Given the description of an element on the screen output the (x, y) to click on. 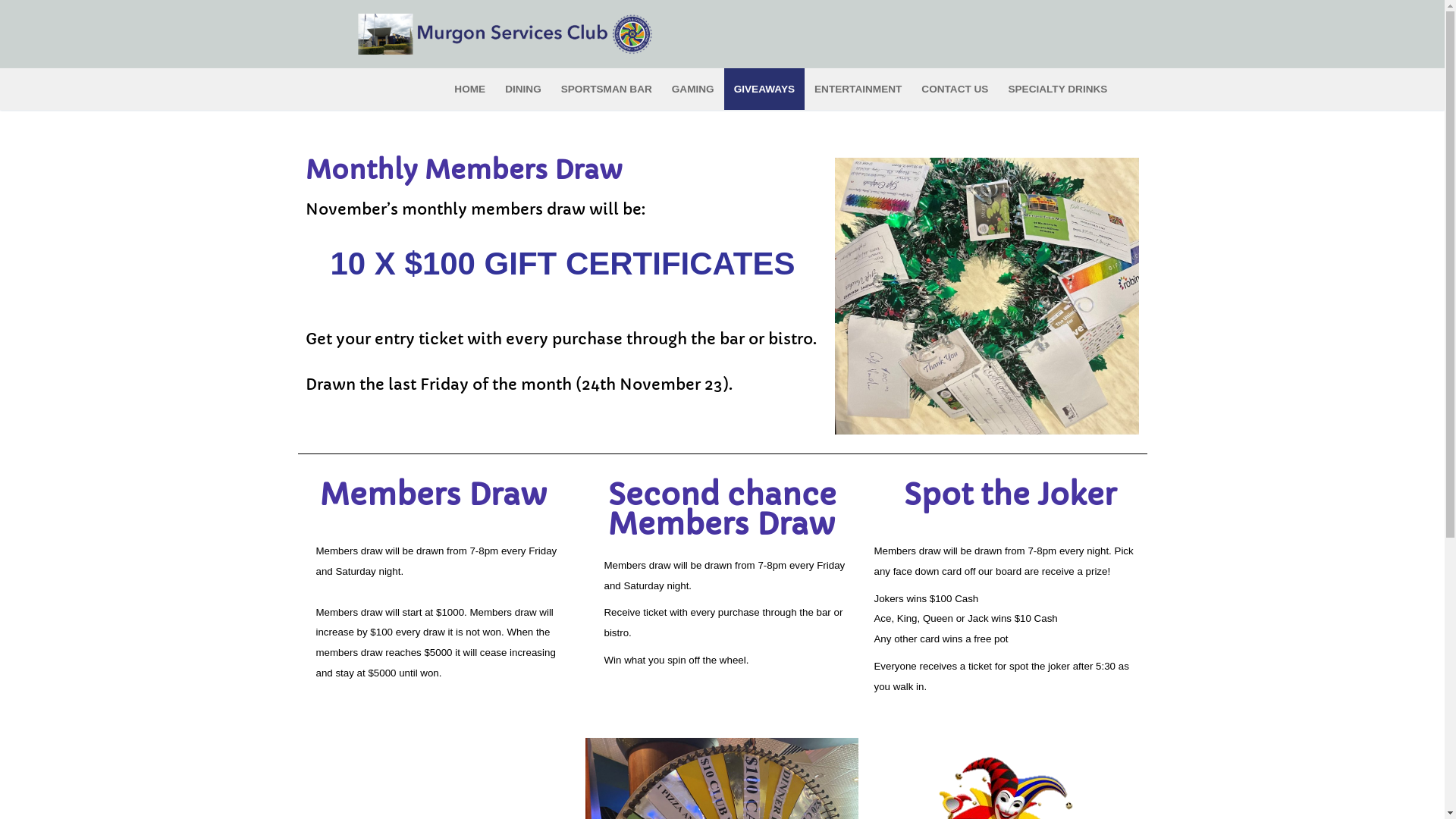
DINING Element type: text (523, 88)
GIVEAWAYS Element type: text (764, 88)
ENTERTAINMENT Element type: text (857, 88)
HOME Element type: text (469, 88)
GAMING Element type: text (693, 88)
CONTACT US Element type: text (954, 88)
SPECIALTY DRINKS Element type: text (1057, 88)
SPORTSMAN BAR Element type: text (606, 88)
